Given the description of an element on the screen output the (x, y) to click on. 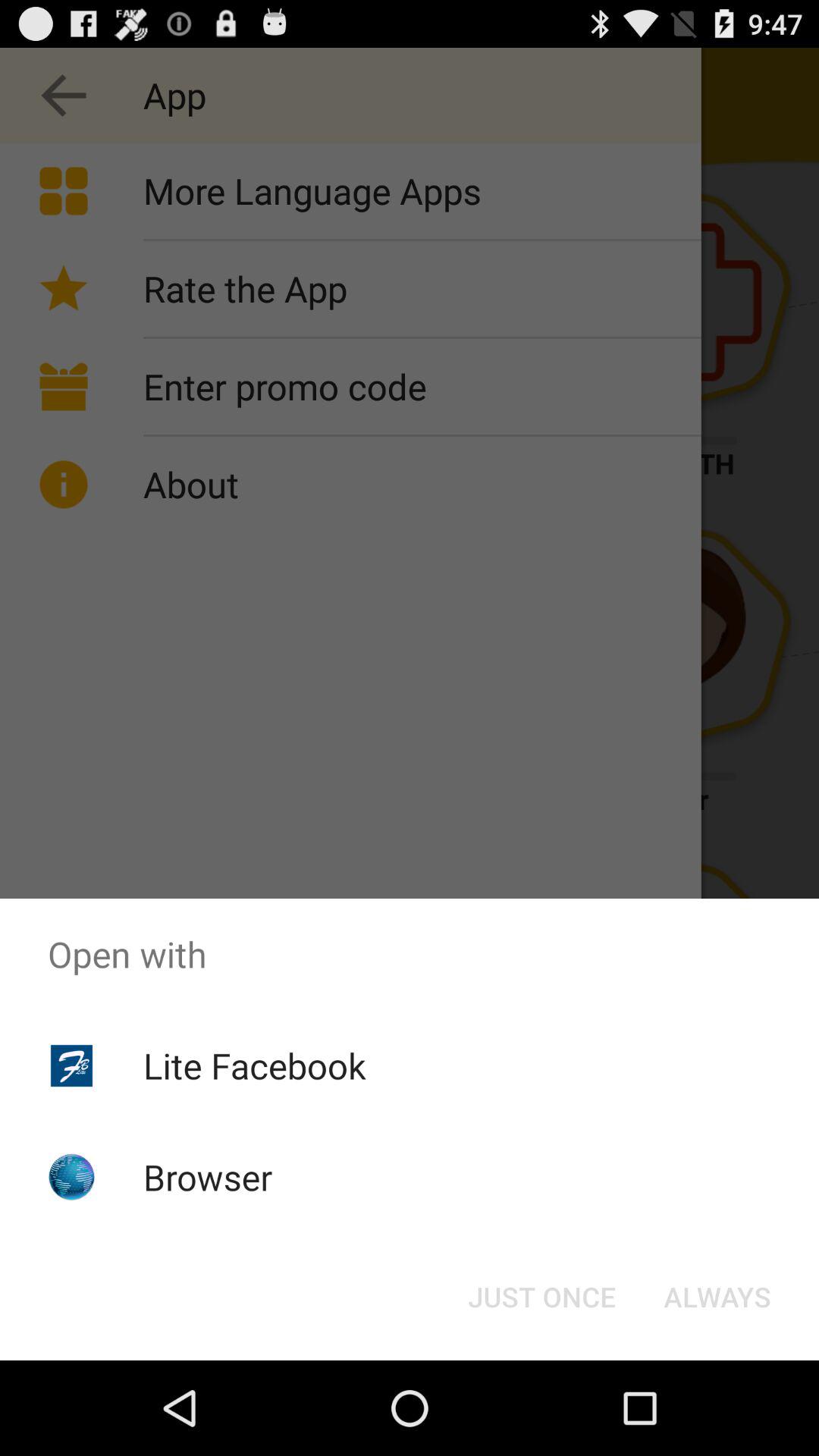
select icon below the lite facebook icon (207, 1176)
